Given the description of an element on the screen output the (x, y) to click on. 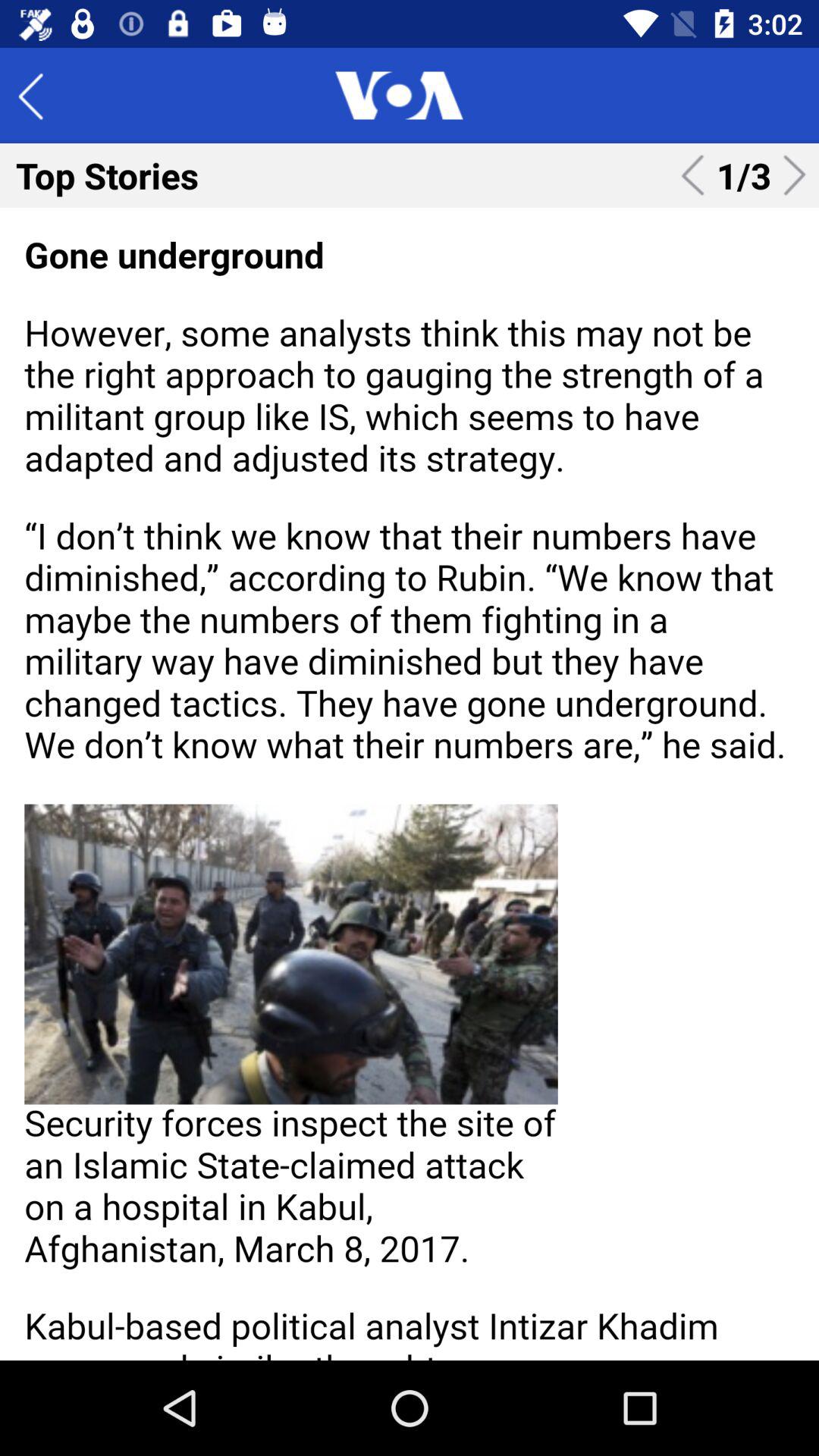
advertisement page (409, 783)
